Given the description of an element on the screen output the (x, y) to click on. 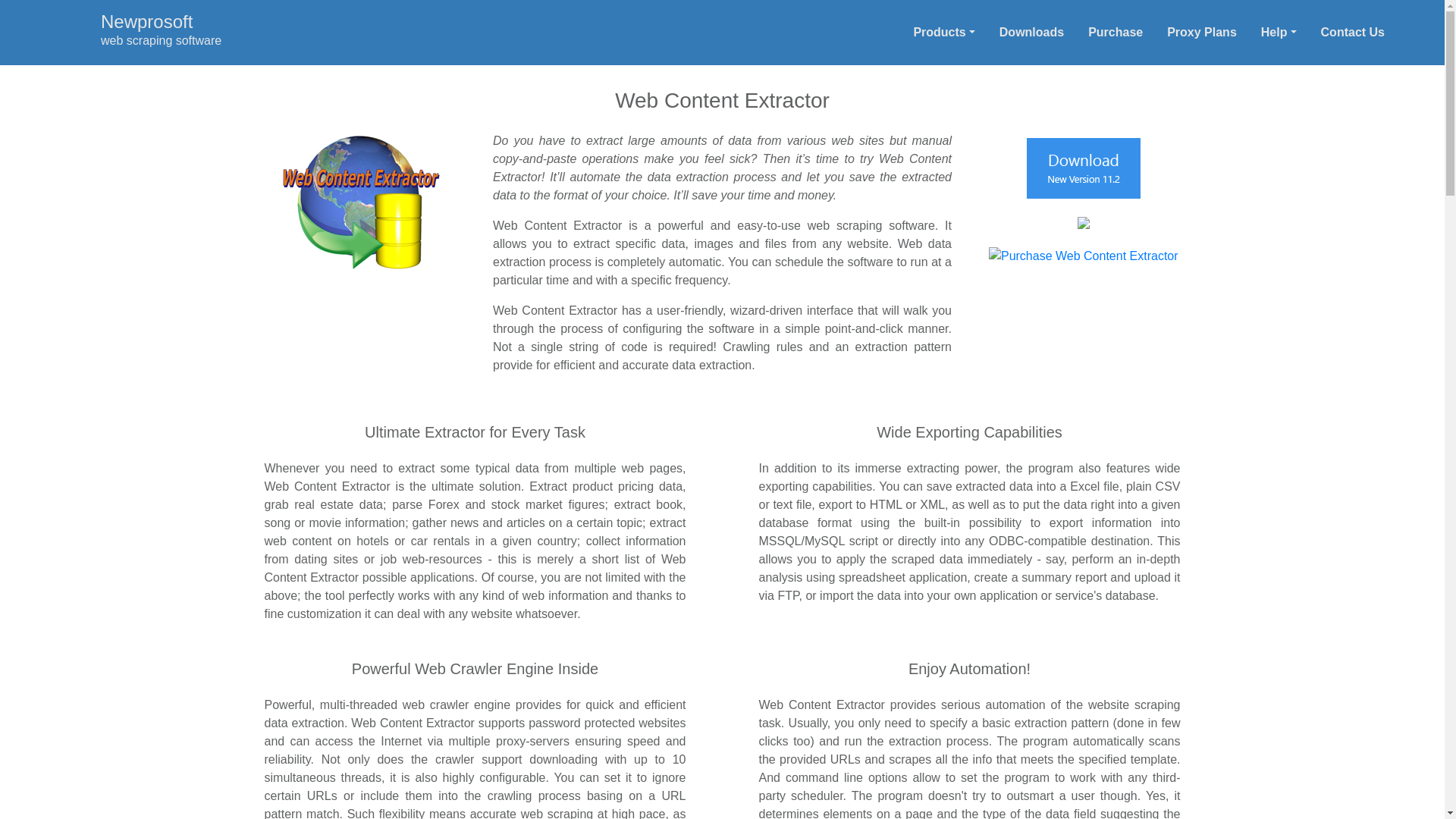
Contact Us (1352, 32)
Products (944, 32)
Help (1278, 32)
Purchase (1114, 32)
Downloads (116, 40)
Proxy Plans (1031, 32)
